Given the description of an element on the screen output the (x, y) to click on. 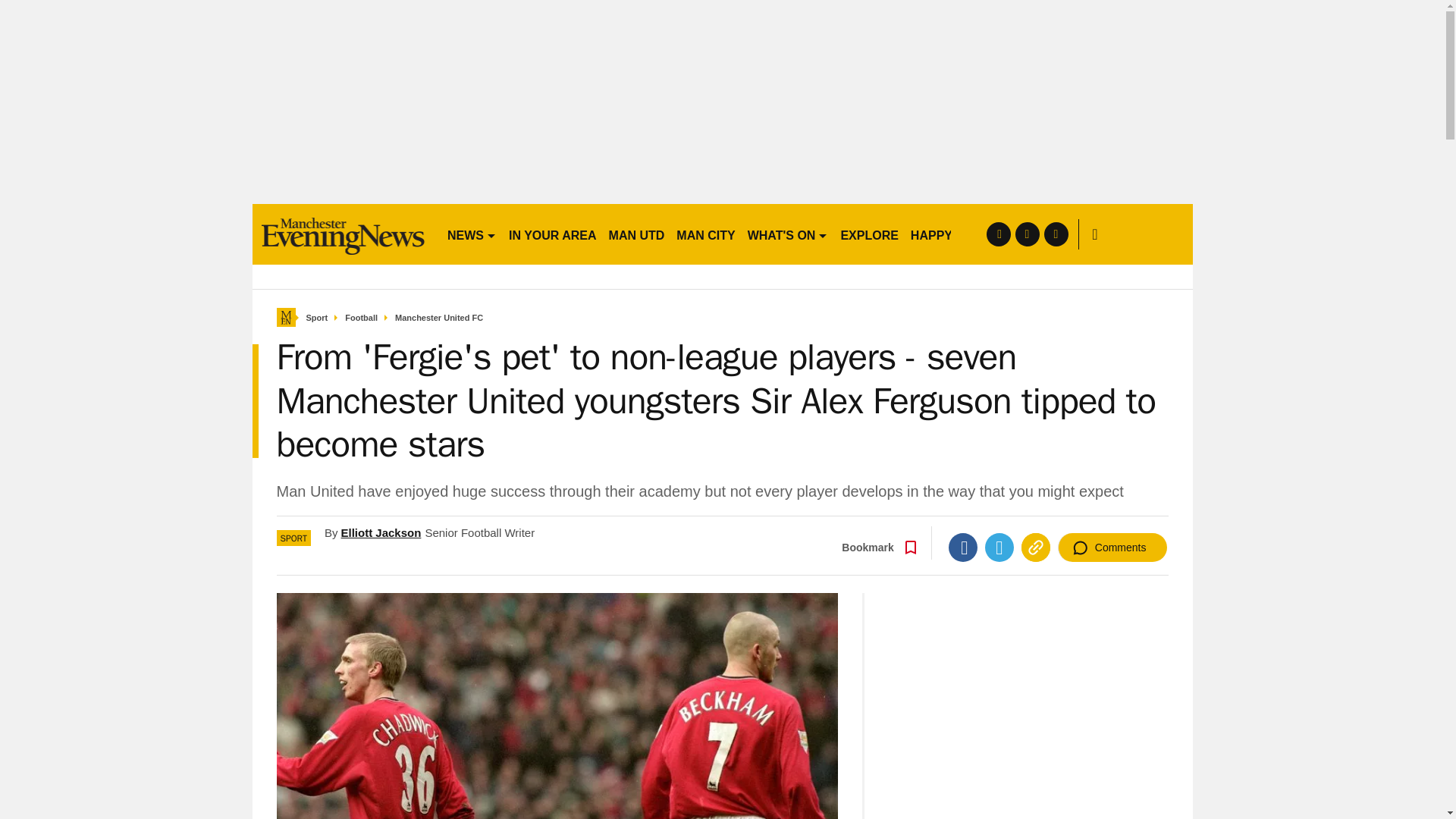
NEWS (471, 233)
facebook (997, 233)
twitter (1026, 233)
MAN UTD (636, 233)
Comments (1112, 547)
MAN CITY (705, 233)
Twitter (999, 547)
instagram (1055, 233)
Facebook (962, 547)
men (342, 233)
IN YOUR AREA (552, 233)
WHAT'S ON (787, 233)
